Given the description of an element on the screen output the (x, y) to click on. 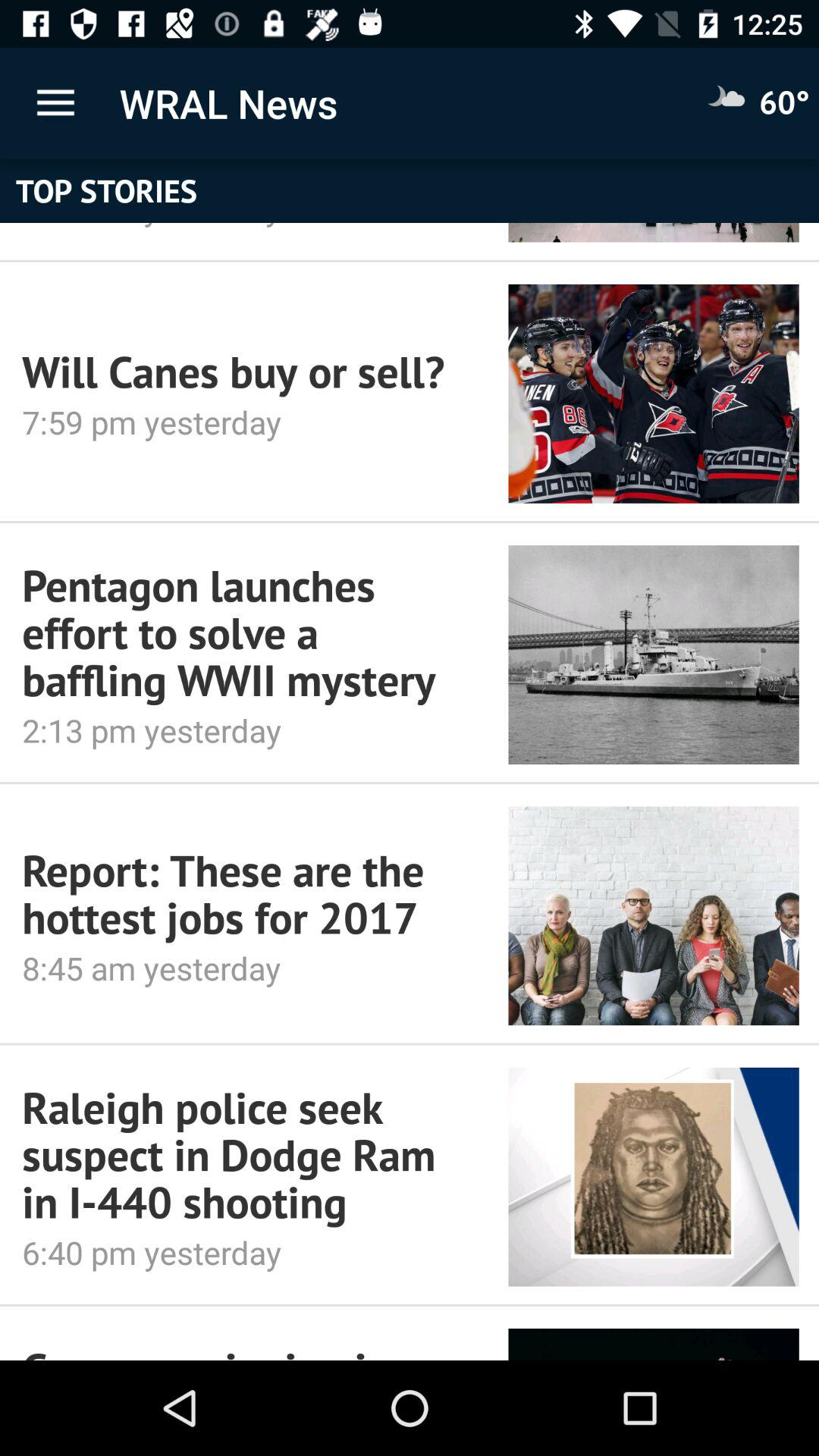
swipe until pentagon launches effort icon (244, 632)
